Given the description of an element on the screen output the (x, y) to click on. 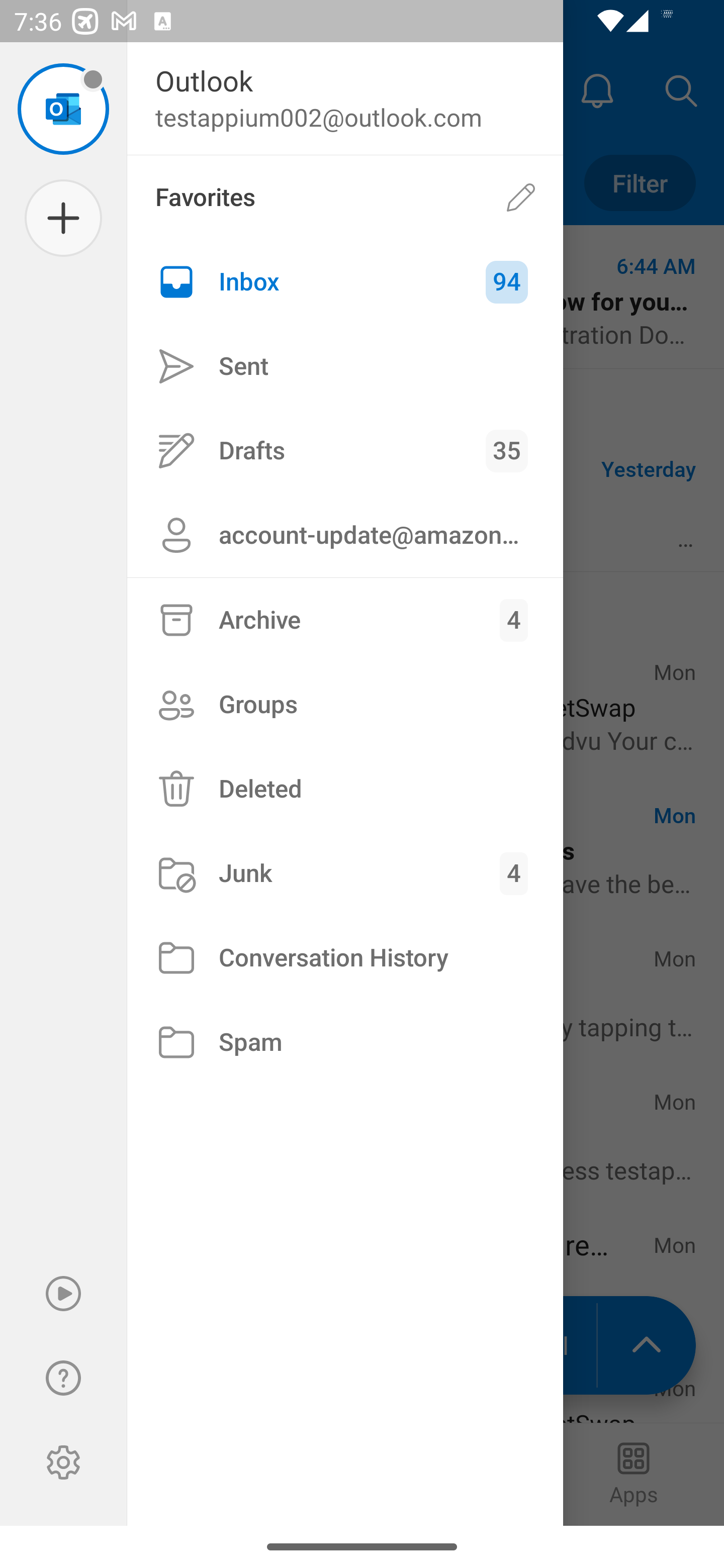
Edit favorites (520, 197)
Add account (63, 217)
Inbox Inbox, 94 unread emails,Selected (345, 281)
Sent (345, 366)
Drafts Drafts, 35 unread emails (345, 450)
account-update@amazon.com (345, 534)
Archive Archive, 2 of 7, level 1, 4 unread emails (345, 619)
Groups Groups, 3 of 7, level 1 (345, 703)
Deleted Deleted, 4 of 7, level 1 (345, 788)
Junk Junk, 5 of 7, level 1, 4 unread emails (345, 873)
Spam Spam, 7 of 7, level 1 (345, 1042)
Play My Emails (62, 1293)
Help (62, 1377)
Settings (62, 1462)
